Given the description of an element on the screen output the (x, y) to click on. 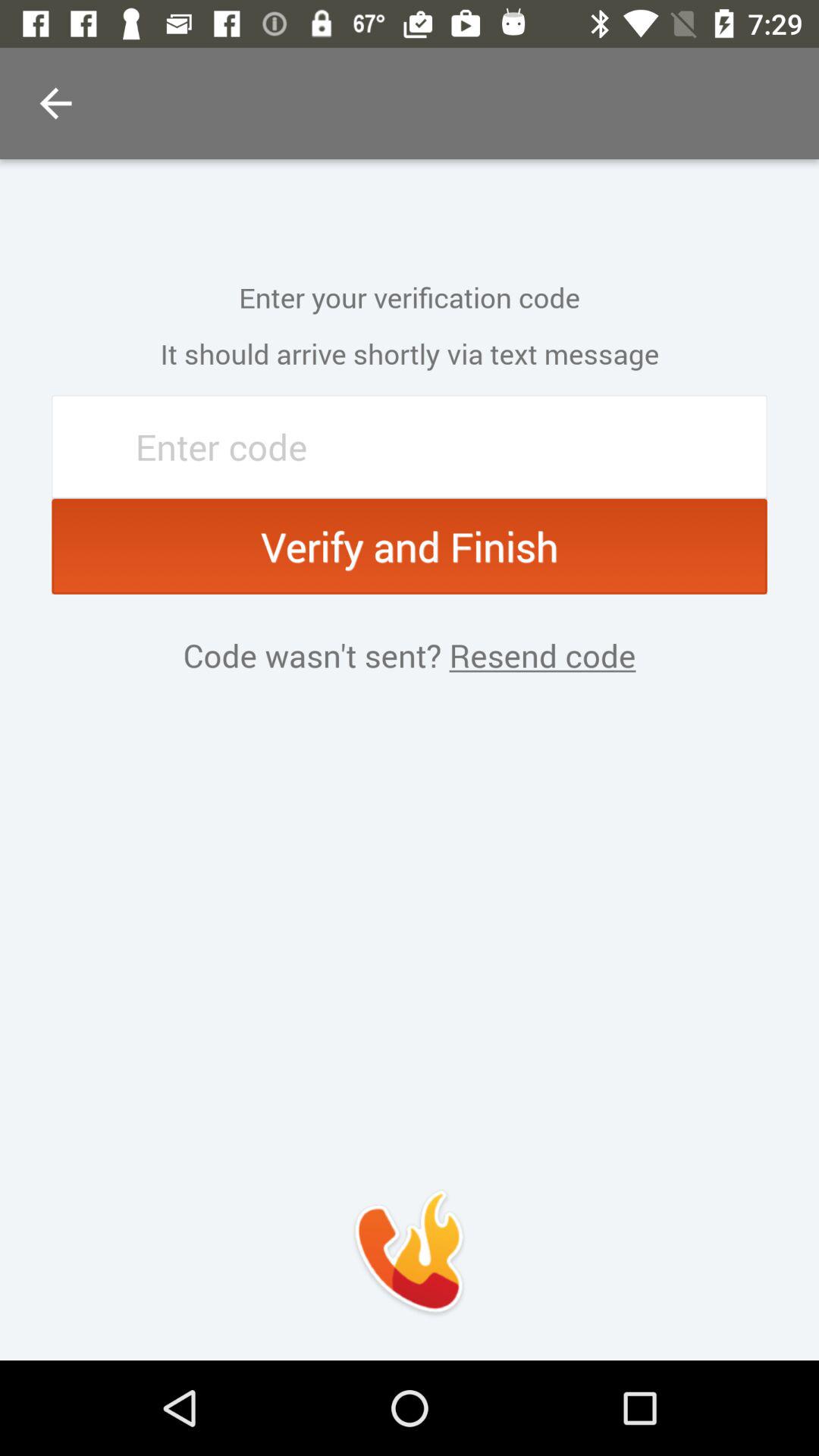
scroll until resend code (538, 655)
